Given the description of an element on the screen output the (x, y) to click on. 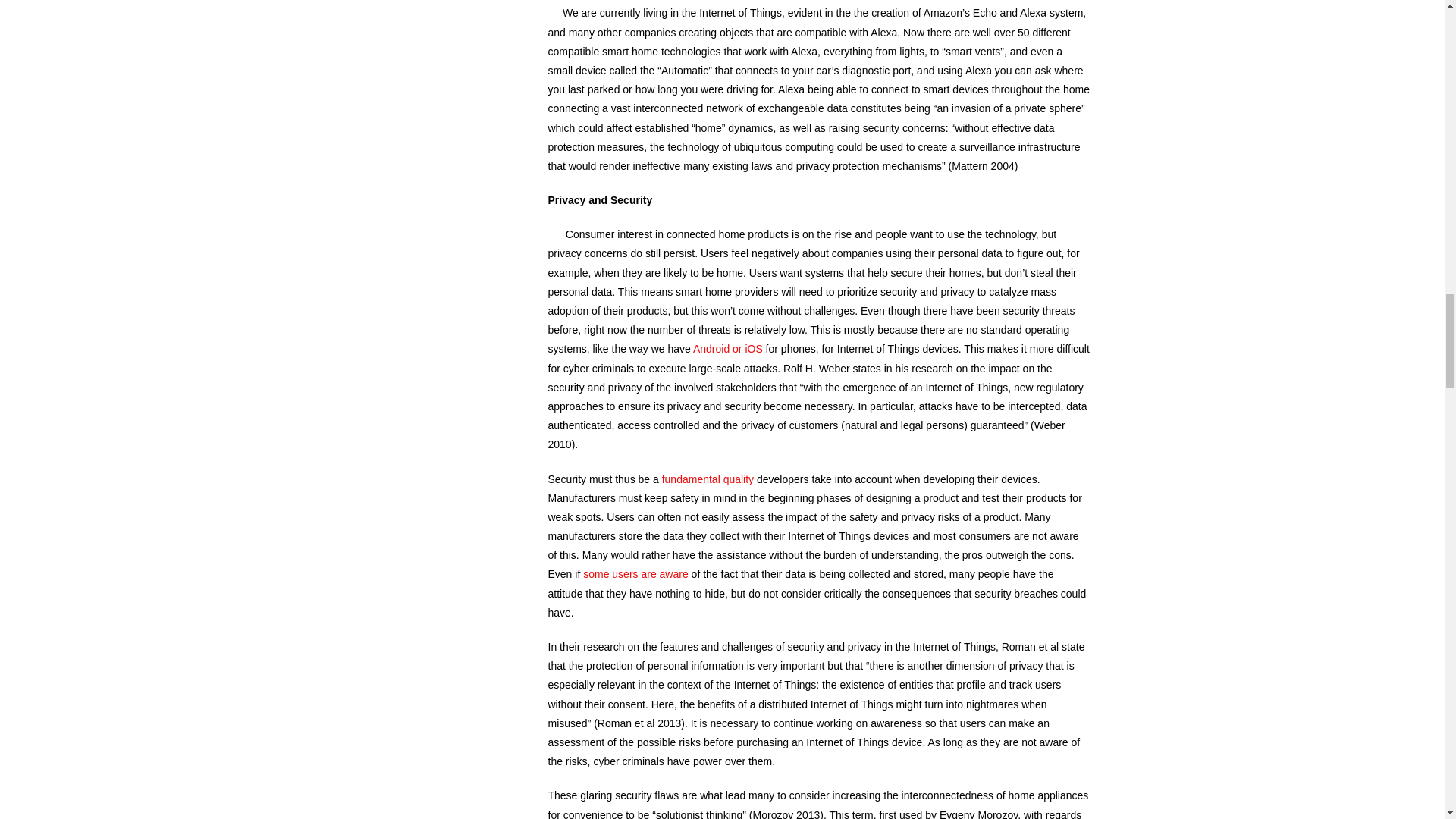
fundamental quality (708, 479)
Android or iOS (726, 348)
some users are aware (635, 573)
